Given the description of an element on the screen output the (x, y) to click on. 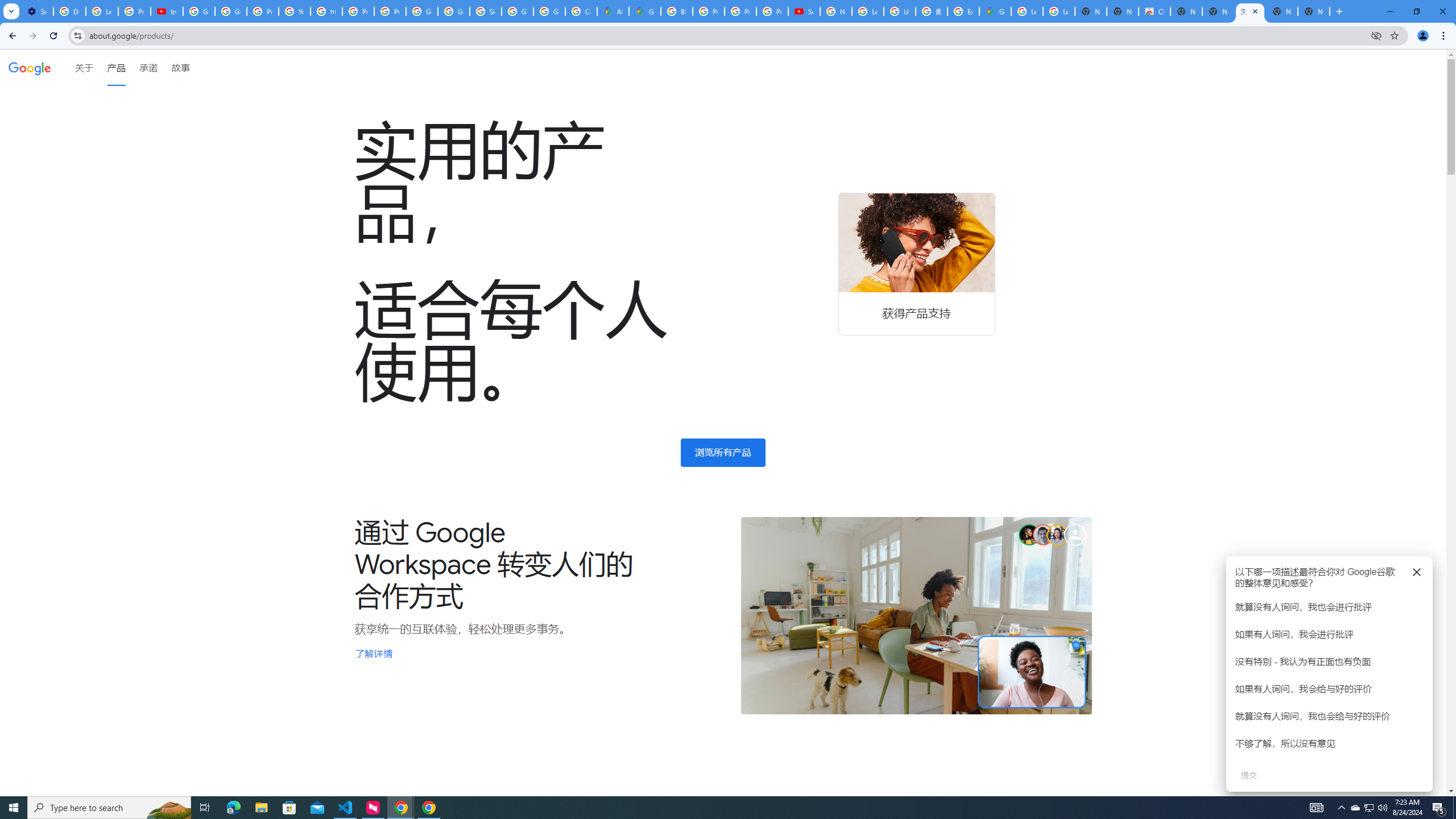
Chrome Web Store (1154, 11)
Blogger Policies and Guidelines - Transparency Center (676, 11)
